Given the description of an element on the screen output the (x, y) to click on. 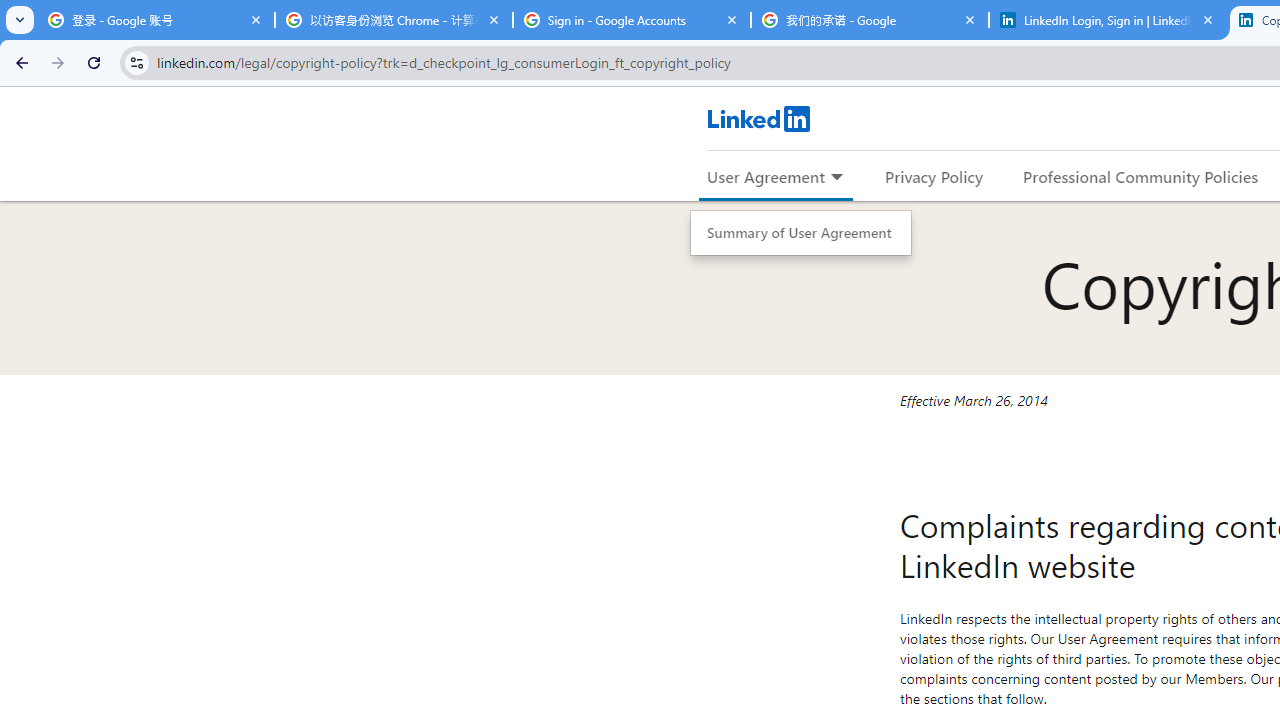
LinkedIn Logo (758, 118)
Expand to show more links for User Agreement (836, 178)
Professional Community Policies (1140, 176)
User Agreement (765, 176)
LinkedIn Login, Sign in | LinkedIn (1108, 20)
